Given the description of an element on the screen output the (x, y) to click on. 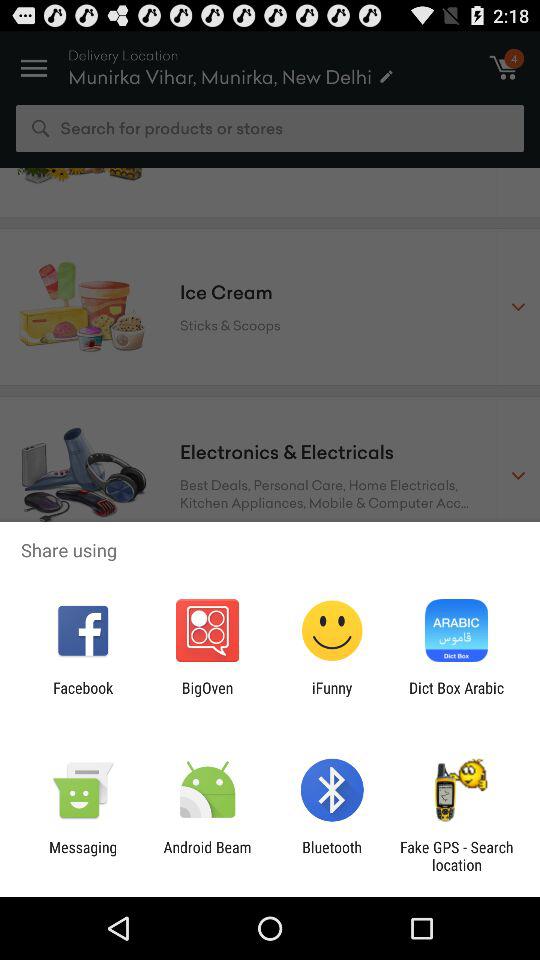
tap the item next to messaging item (207, 856)
